Given the description of an element on the screen output the (x, y) to click on. 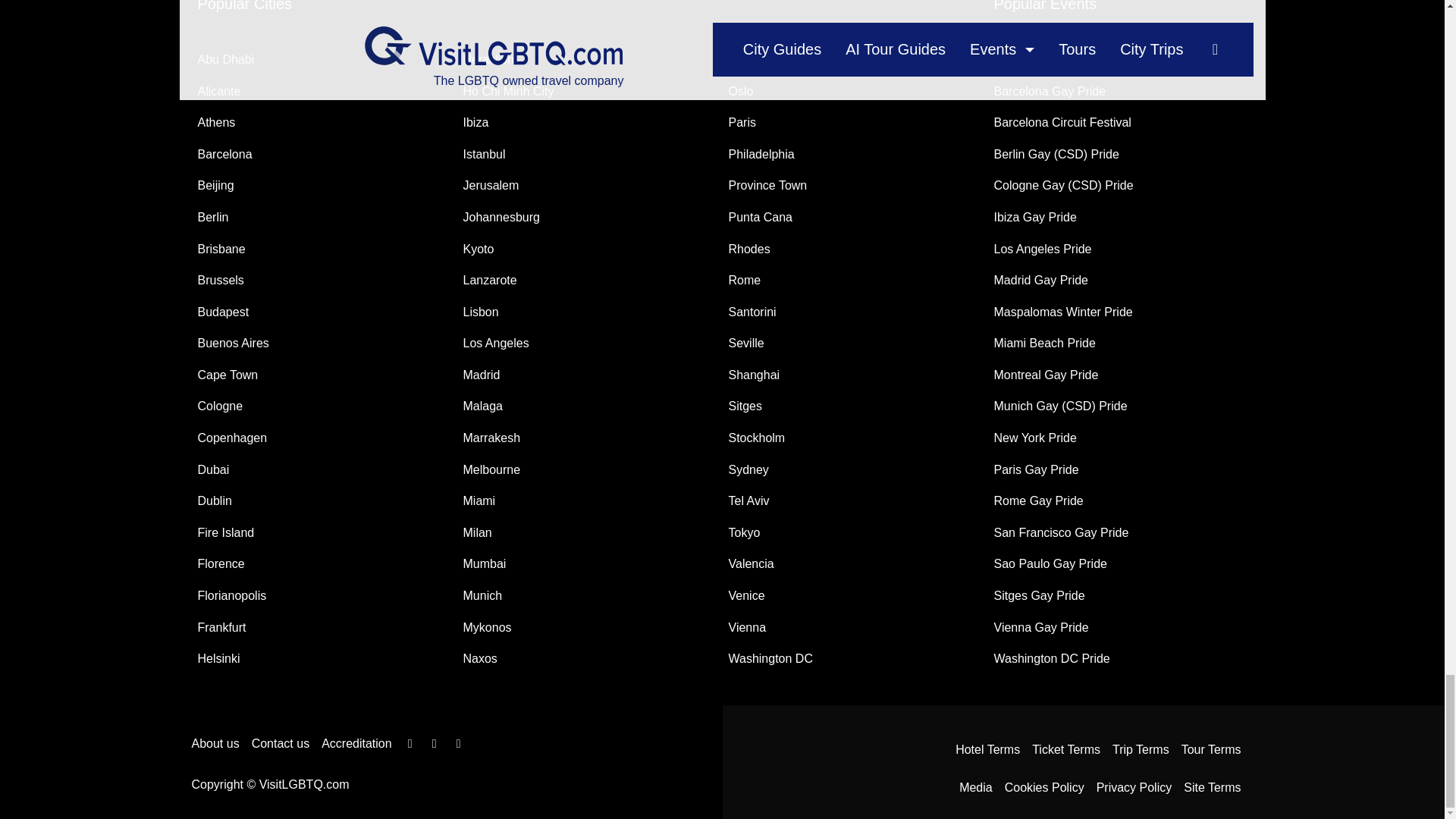
Abu Dhabi (224, 59)
Brisbane (220, 248)
Barcelona (223, 154)
Athens (215, 122)
Beijing (214, 185)
Budapest (222, 311)
Buenos Aires (231, 342)
Brussels (219, 279)
Cologne (219, 405)
Alicante (218, 91)
Berlin (212, 216)
Cape Town (226, 374)
